Given the description of an element on the screen output the (x, y) to click on. 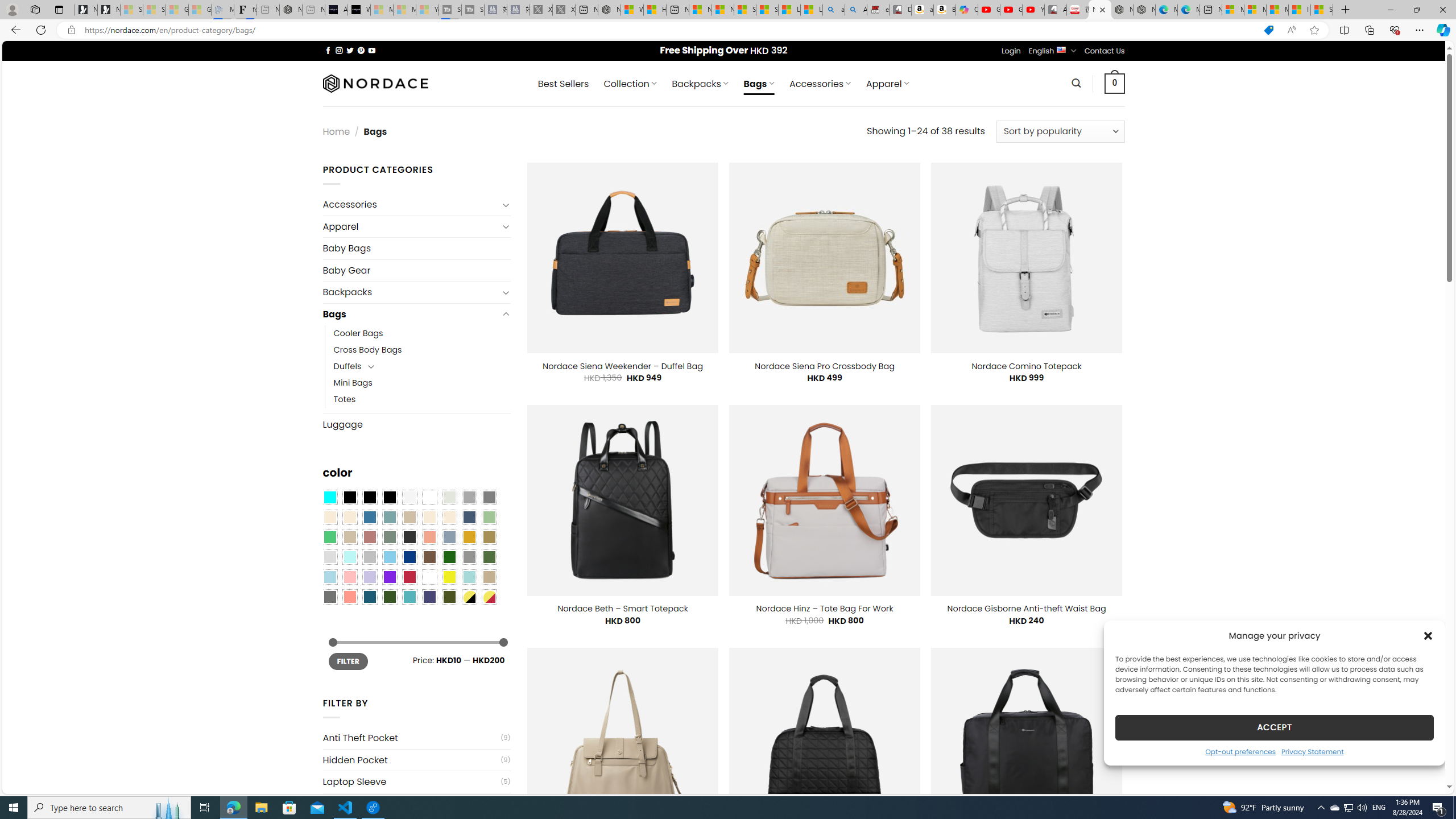
Wildlife - MSN (631, 9)
Purple (389, 577)
  0   (1115, 83)
USB Charging Port(5) (416, 803)
Baby Bags (416, 248)
Navy Blue (408, 557)
Cooler Bags (357, 333)
Red (408, 577)
Emerald Green (329, 536)
All Cubot phones (1055, 9)
